Given the description of an element on the screen output the (x, y) to click on. 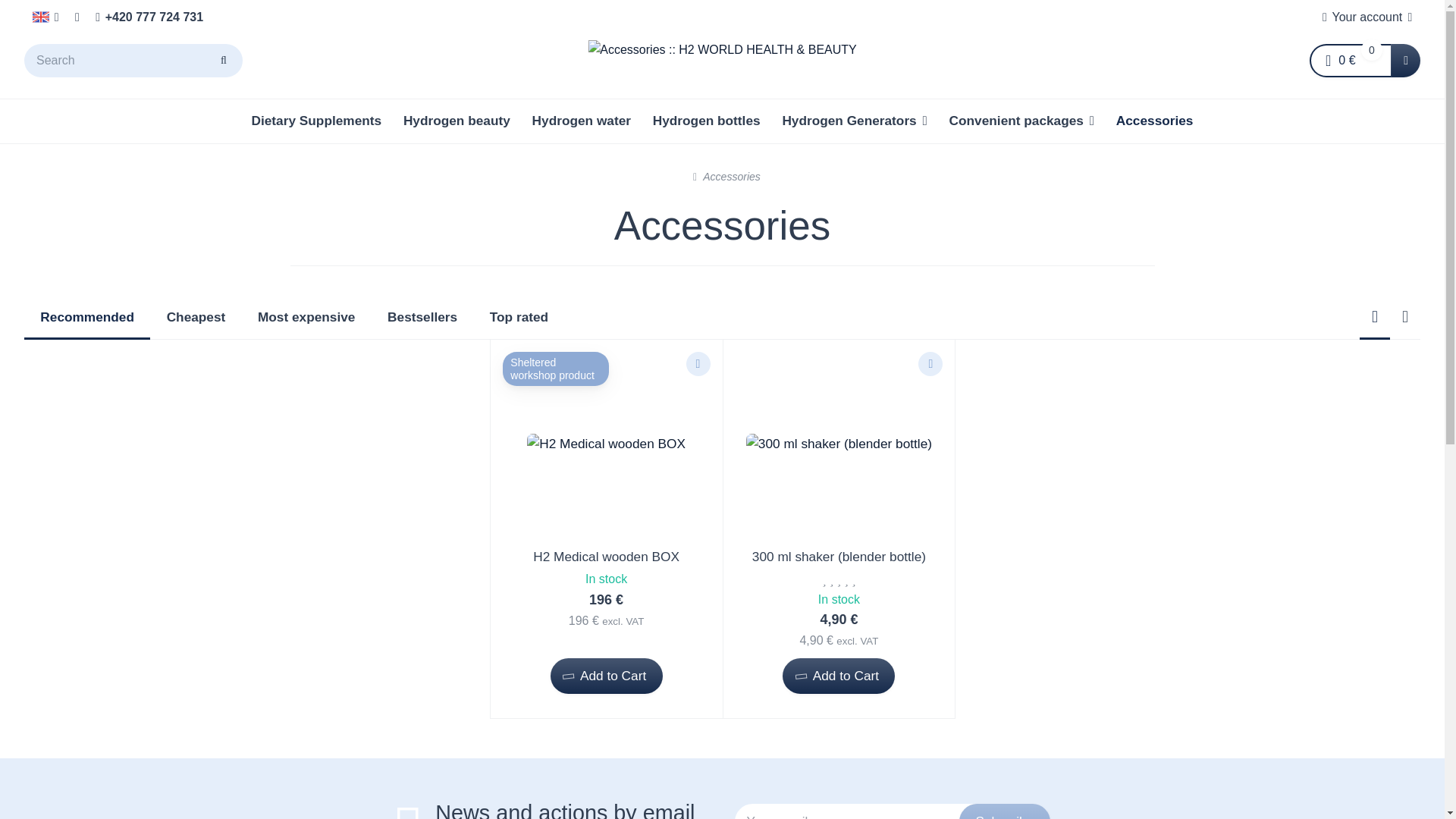
Phone (149, 17)
Open menu (45, 17)
Dietary Supplements (315, 121)
Home (722, 49)
Your account (1367, 17)
Email (76, 17)
Toggle Dropdown (1405, 60)
